Given the description of an element on the screen output the (x, y) to click on. 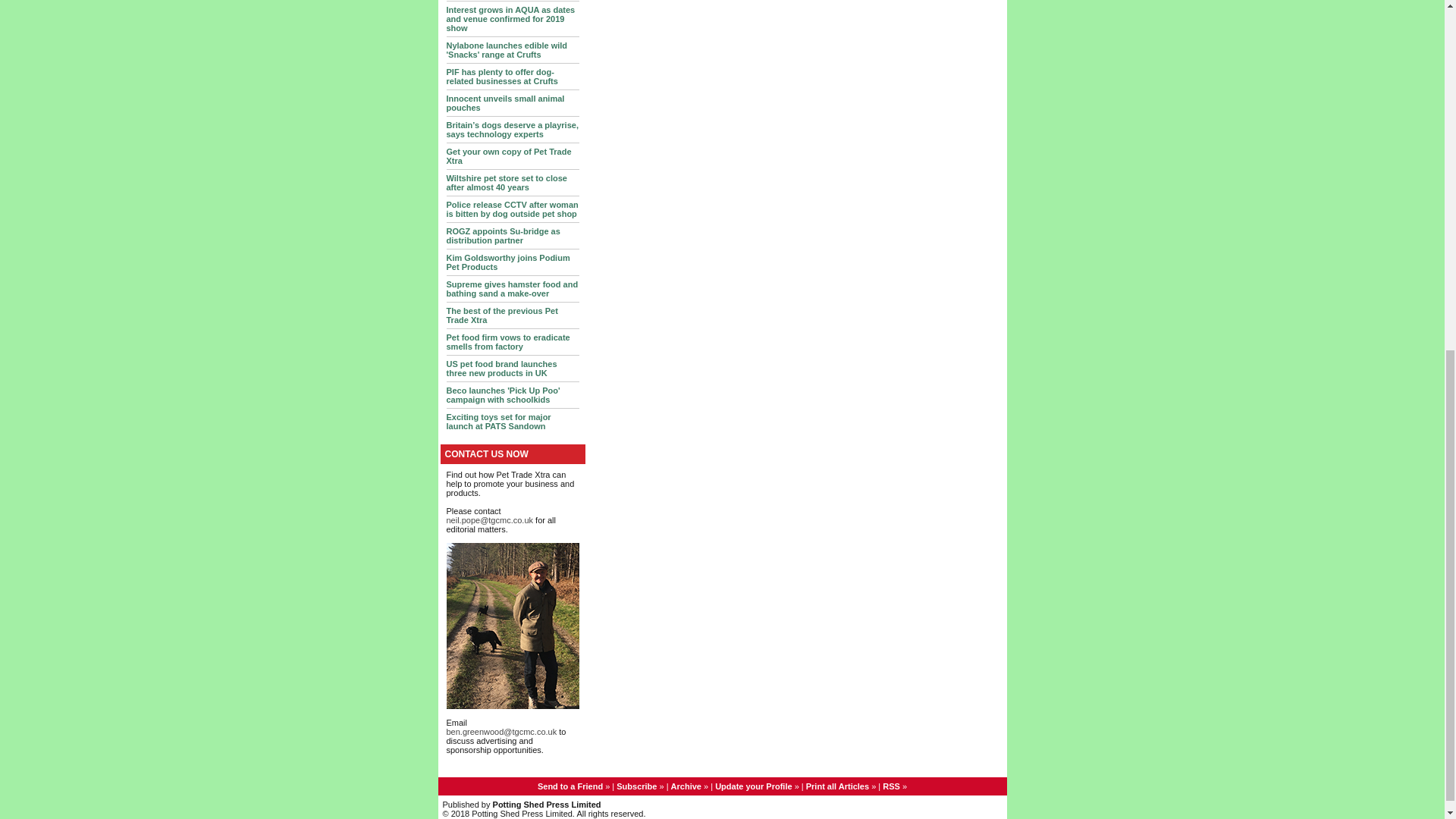
Innocent unveils small animal pouches (504, 103)
US pet food brand launches three new products in UK (500, 368)
Pet food firm vows to eradicate smells from factory (507, 341)
Beco launches 'Pick Up Poo' campaign with schoolkids (502, 393)
Kim Goldsworthy joins Podium Pet Products (507, 262)
Archive (686, 785)
Wiltshire pet store set to close after almost 40 years (505, 181)
The best of the previous Pet Trade Xtra (501, 315)
Exciting toys set for major launch at PATS Sandown (497, 421)
ROGZ appoints Su-bridge as distribution partner (502, 235)
Nylabone launches edible wild 'Snacks' range at Crufts (506, 49)
PIF has plenty to offer dog-related businesses at Crufts (501, 75)
Update your Profile (753, 785)
